Given the description of an element on the screen output the (x, y) to click on. 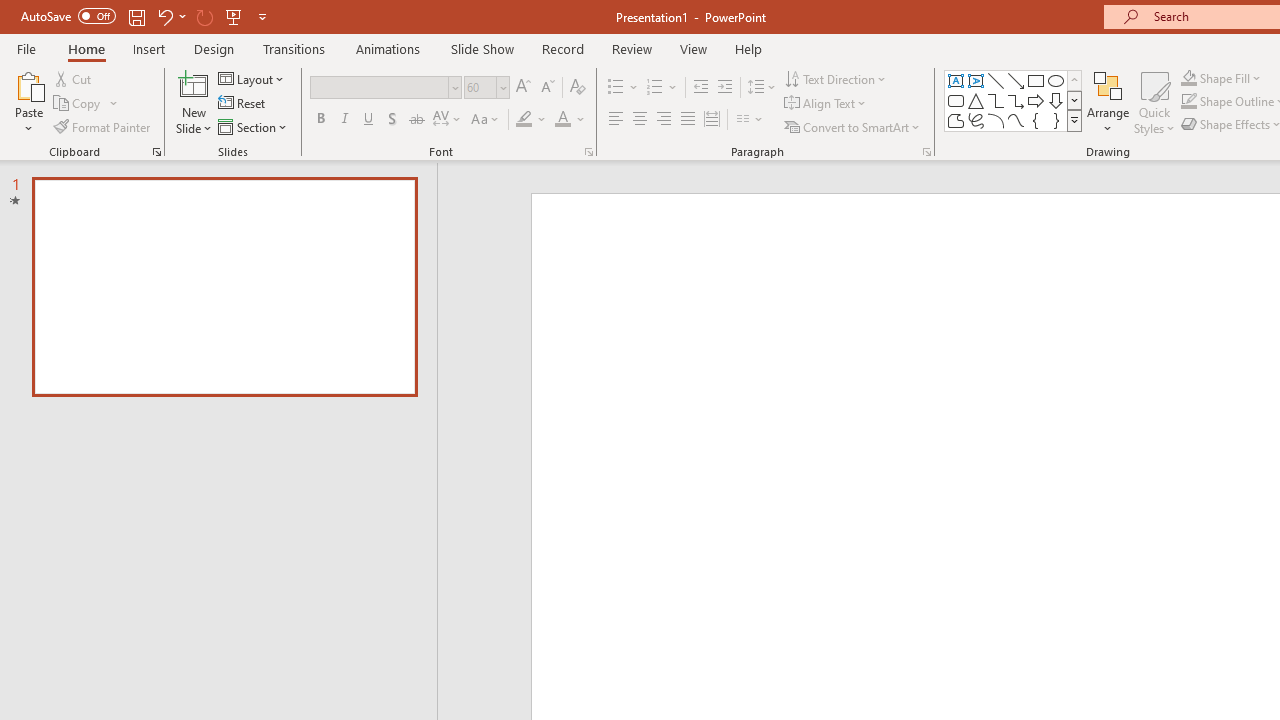
Text Highlight Color Yellow (524, 119)
Decrease Indent (700, 87)
Row Down (1074, 100)
Class: NetUIImage (1075, 120)
Underline (369, 119)
Clear Formatting (577, 87)
Text Box (955, 80)
Copy (85, 103)
Justify (687, 119)
Decrease Font Size (547, 87)
Shape Outline Blue, Accent 1 (1188, 101)
